Given the description of an element on the screen output the (x, y) to click on. 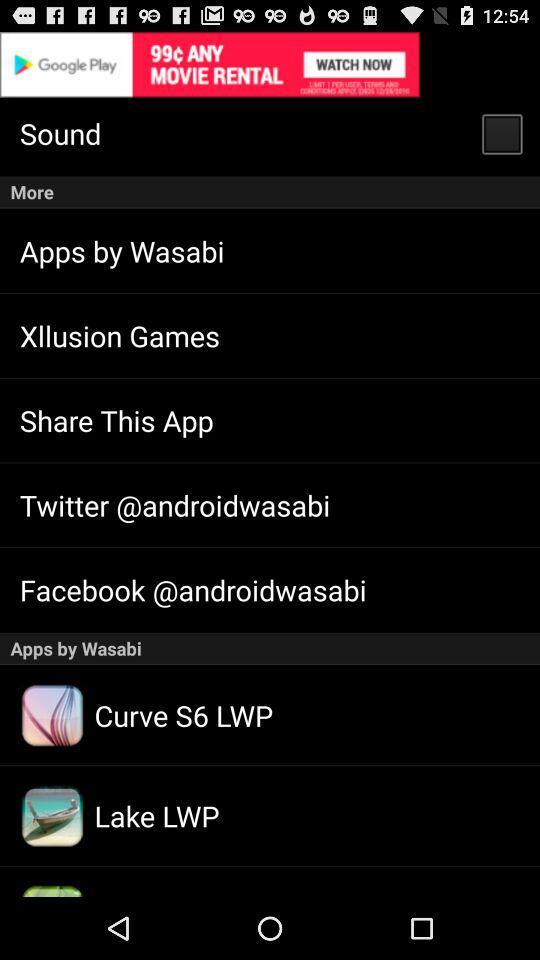
go to google play (270, 64)
